Given the description of an element on the screen output the (x, y) to click on. 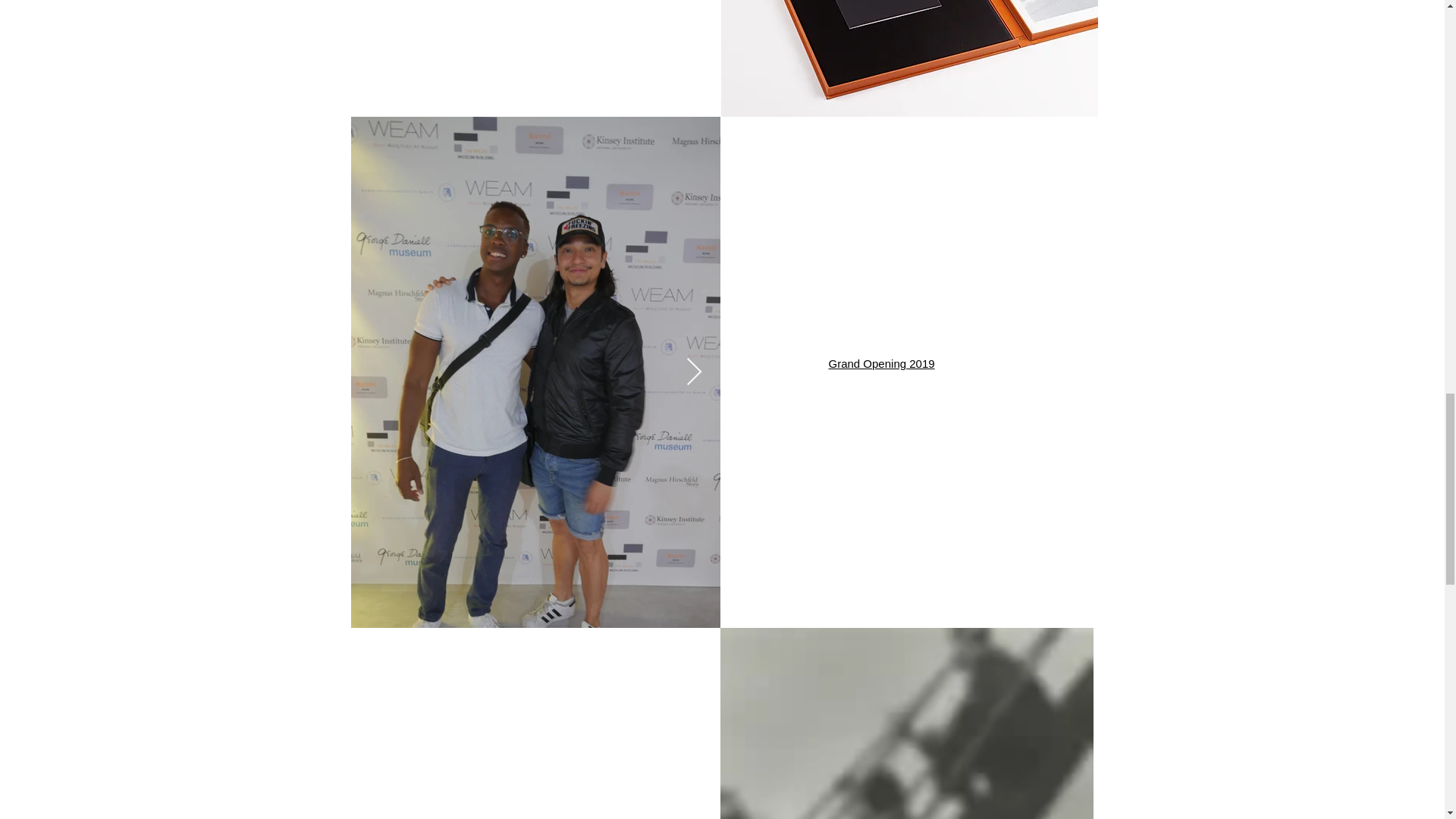
Grand Opening 2019 (881, 363)
